Given the description of an element on the screen output the (x, y) to click on. 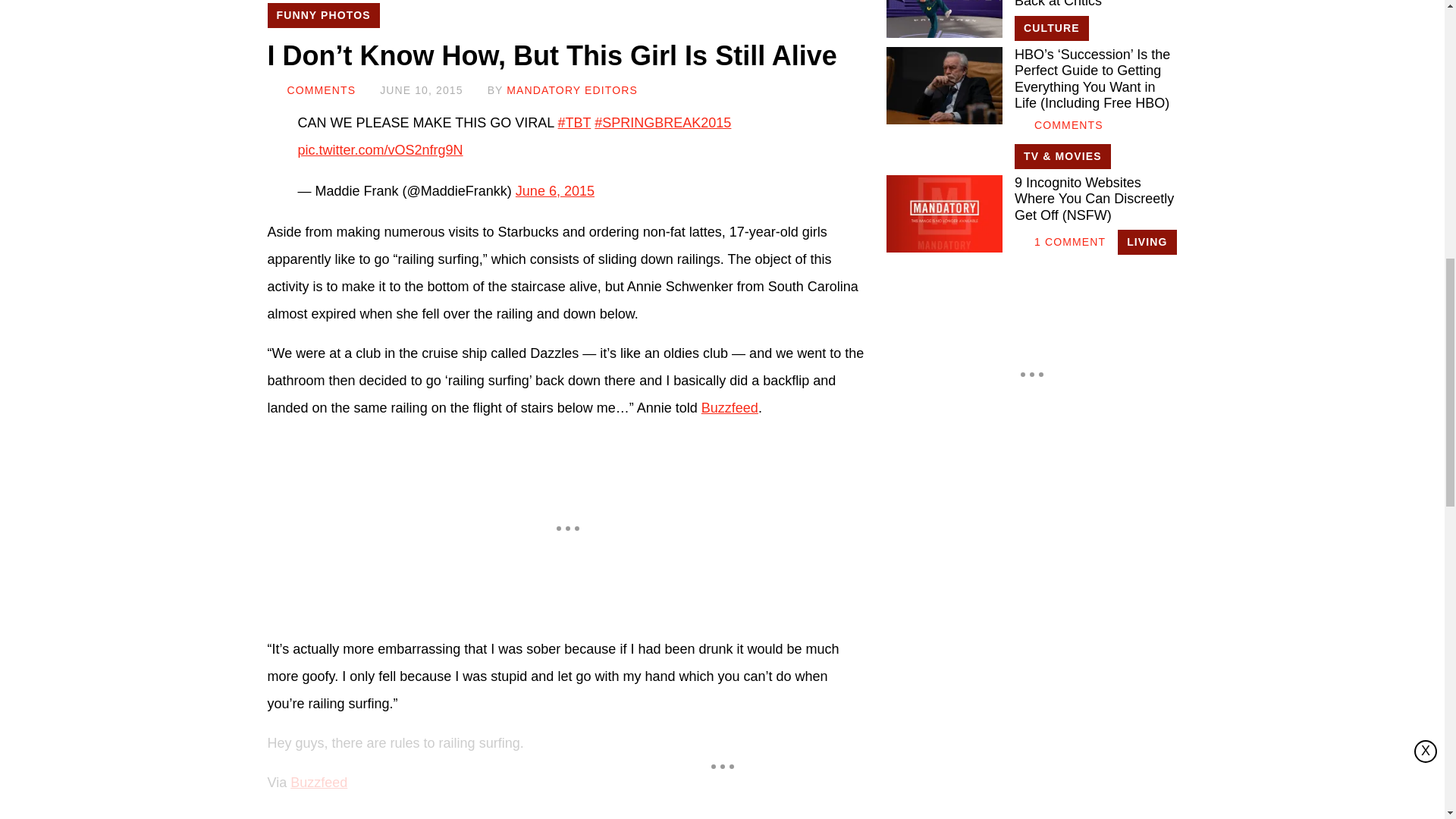
June 6, 2015 (554, 191)
Buzzfeed (318, 782)
Buzzfeed (729, 407)
MANDATORY EDITORS (571, 90)
FUNNY PHOTOS (322, 15)
